Given the description of an element on the screen output the (x, y) to click on. 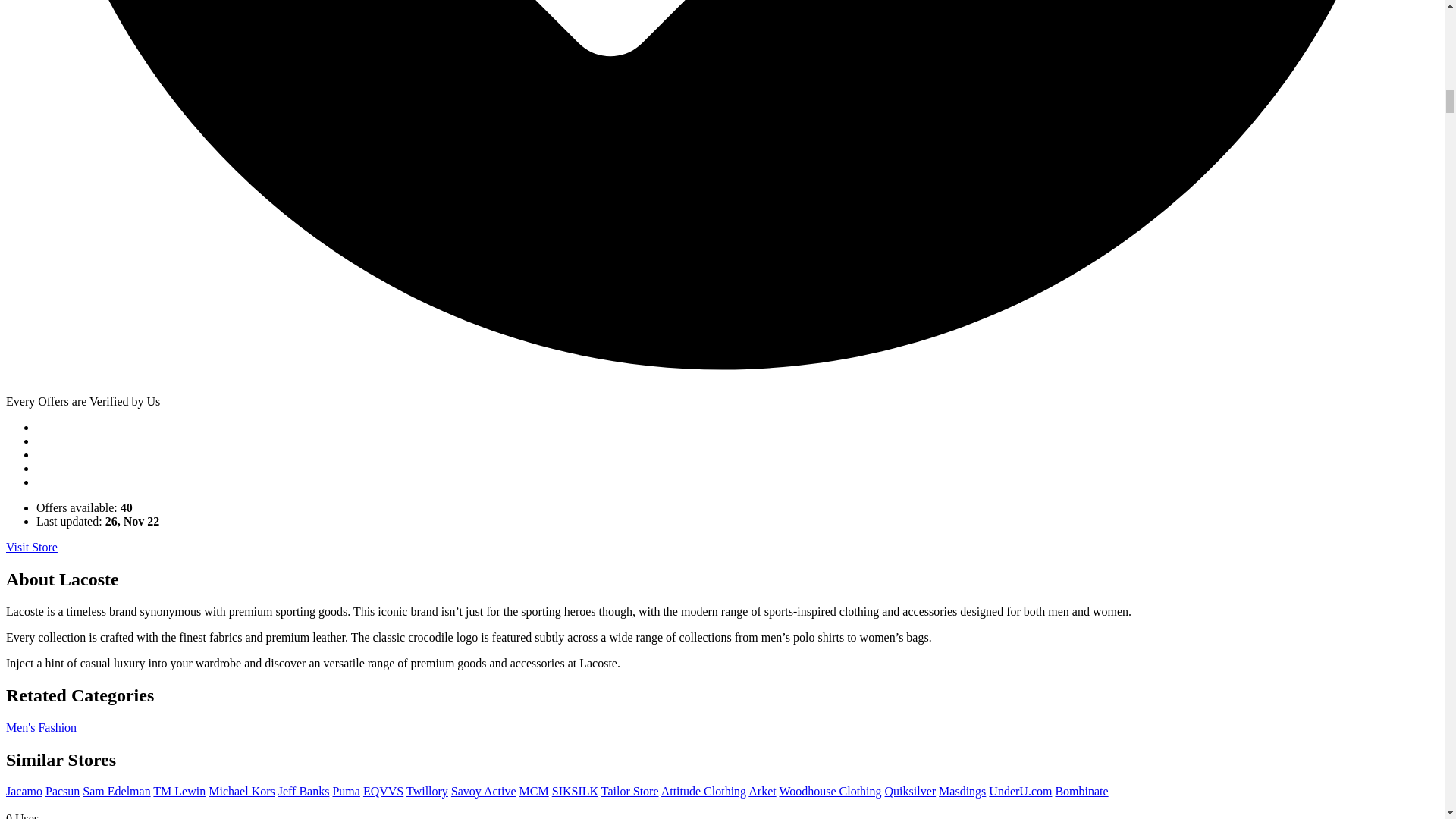
EQVVS (382, 790)
Bombinate (1081, 790)
Savoy Active (483, 790)
Quiksilver (910, 790)
MCM (533, 790)
Arket (762, 790)
Sam Edelman (115, 790)
Puma (345, 790)
UnderU.com (1019, 790)
Attitude Clothing (703, 790)
SIKSILK (574, 790)
Woodhouse Clothing (829, 790)
TM Lewin (178, 790)
Michael Kors (241, 790)
Jacamo (23, 790)
